Given the description of an element on the screen output the (x, y) to click on. 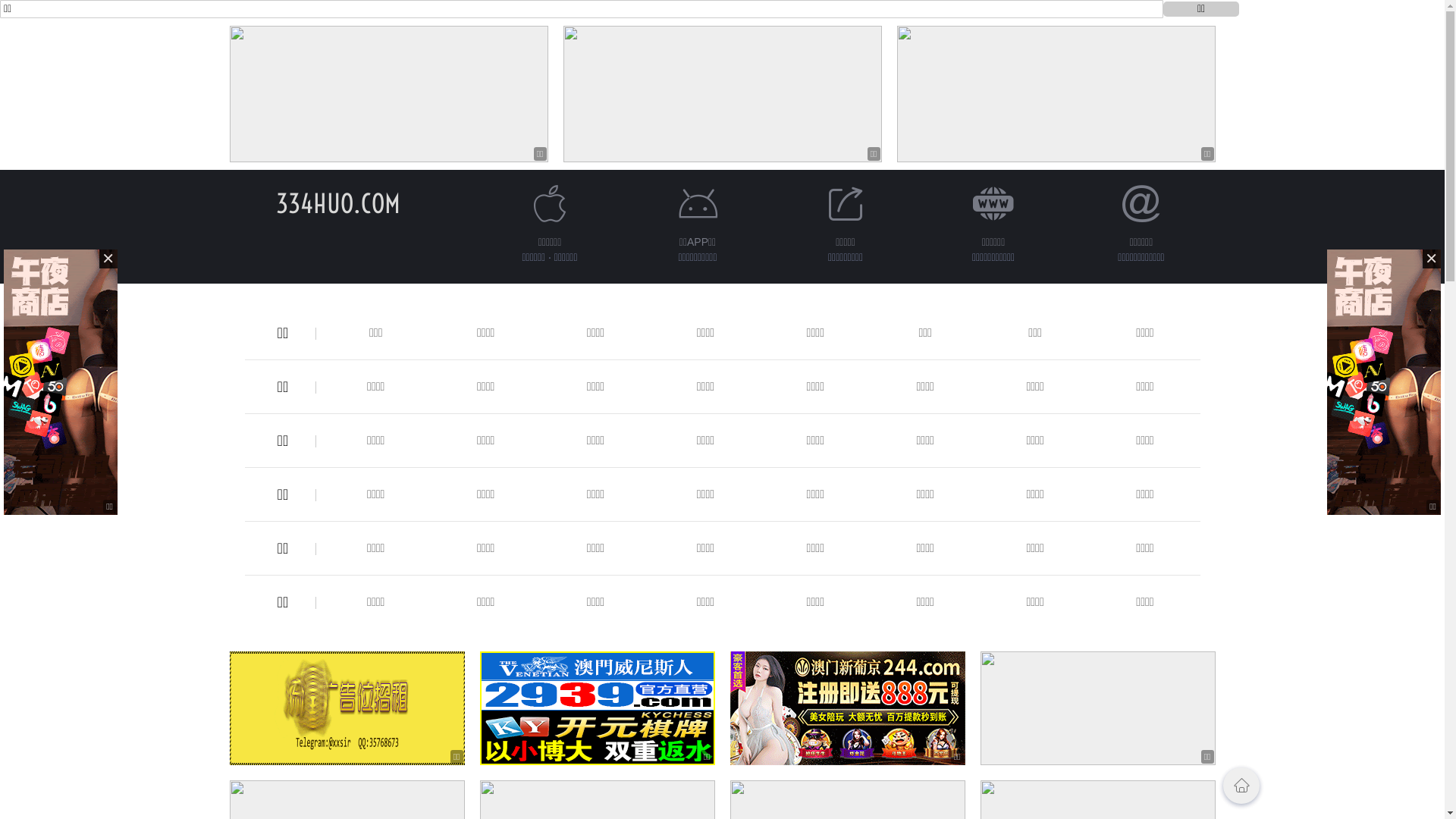
334HUO.COM Element type: text (338, 203)
